Given the description of an element on the screen output the (x, y) to click on. 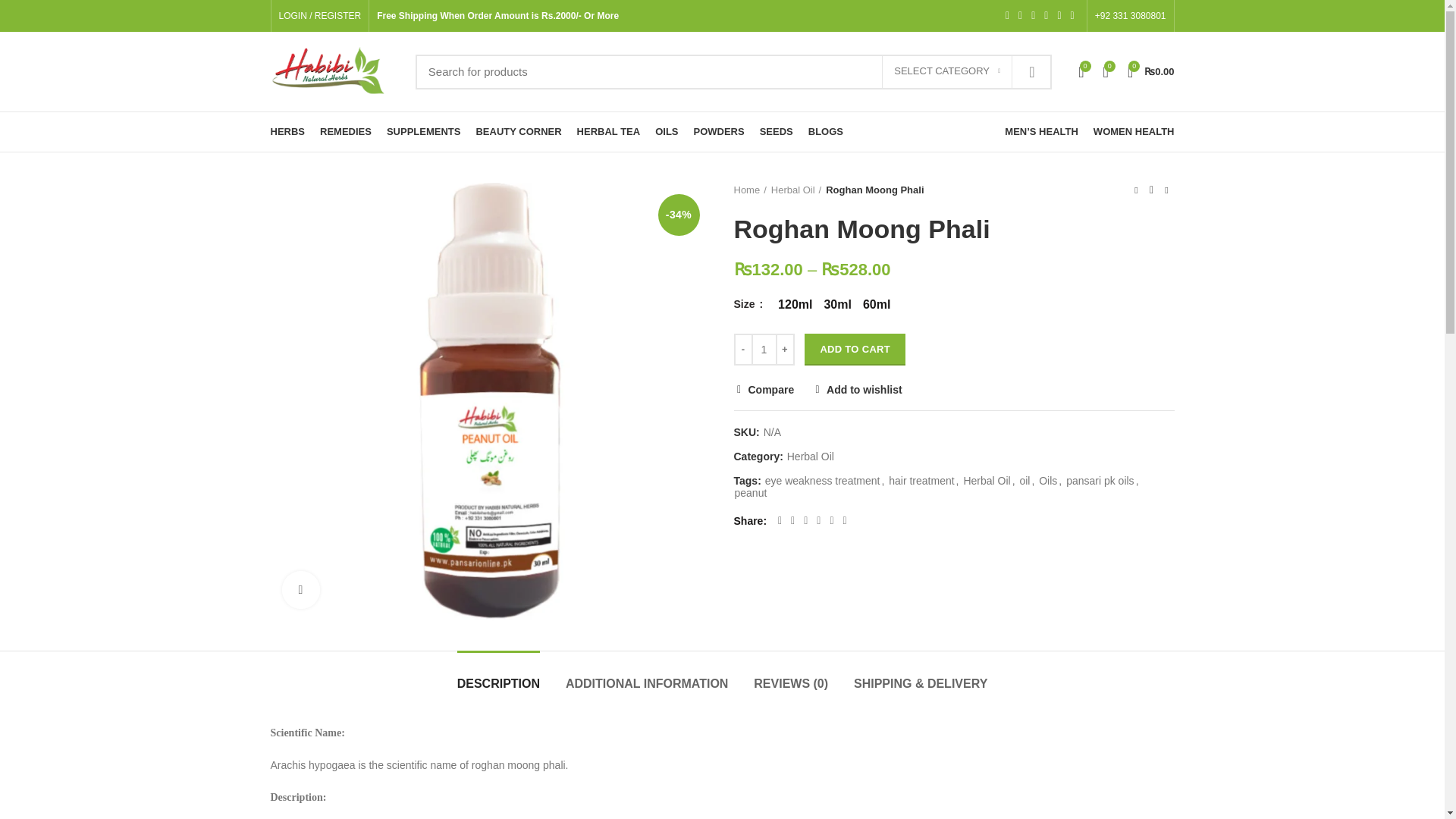
My account (319, 15)
SELECT CATEGORY (946, 71)
Shopping cart (1150, 71)
Search for products (732, 71)
SELECT CATEGORY (946, 71)
SEARCH (1030, 71)
